Given the description of an element on the screen output the (x, y) to click on. 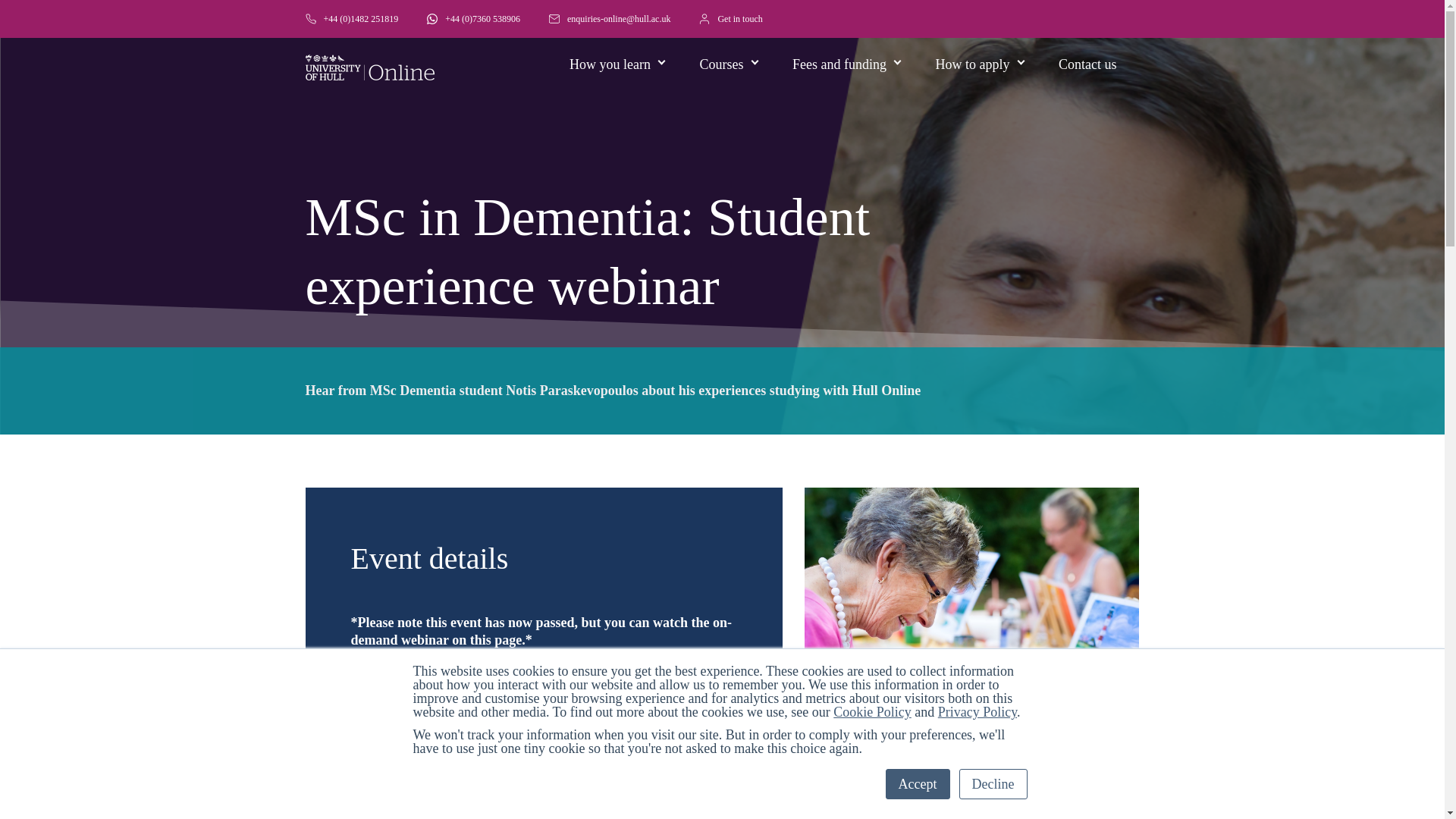
Cookie Policy (871, 711)
Fees and funding (842, 46)
Decline (993, 784)
Privacy Policy (976, 711)
Accept (917, 784)
How you learn (613, 46)
Courses (725, 46)
How to apply (976, 46)
Contact us (1087, 46)
Get in touch (729, 18)
